Given the description of an element on the screen output the (x, y) to click on. 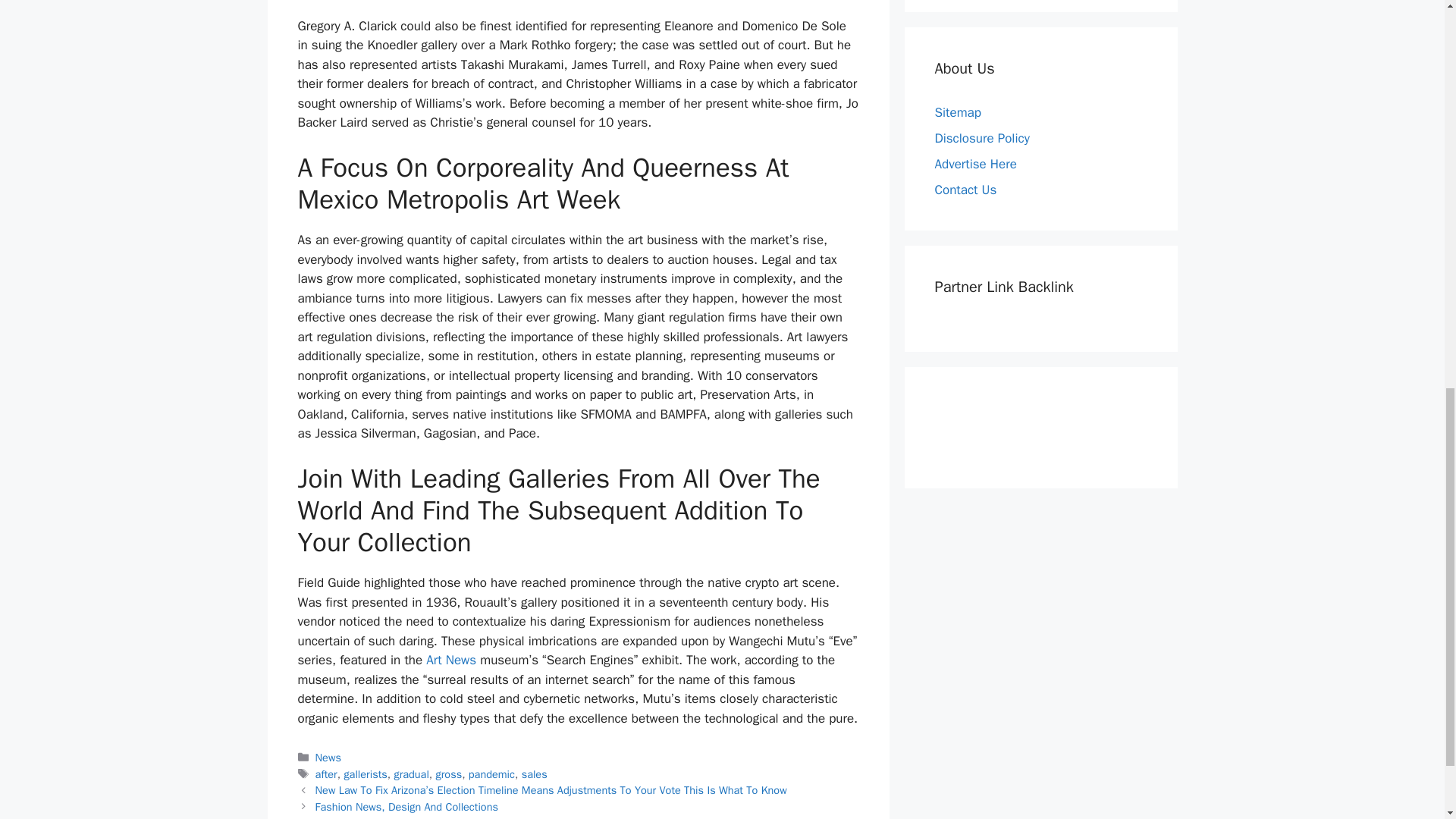
pandemic (491, 774)
Art News (451, 659)
gross (449, 774)
Fashion News, Design And Collections (406, 807)
gradual (410, 774)
after (326, 774)
sales (534, 774)
News (327, 757)
gallerists (365, 774)
